Given the description of an element on the screen output the (x, y) to click on. 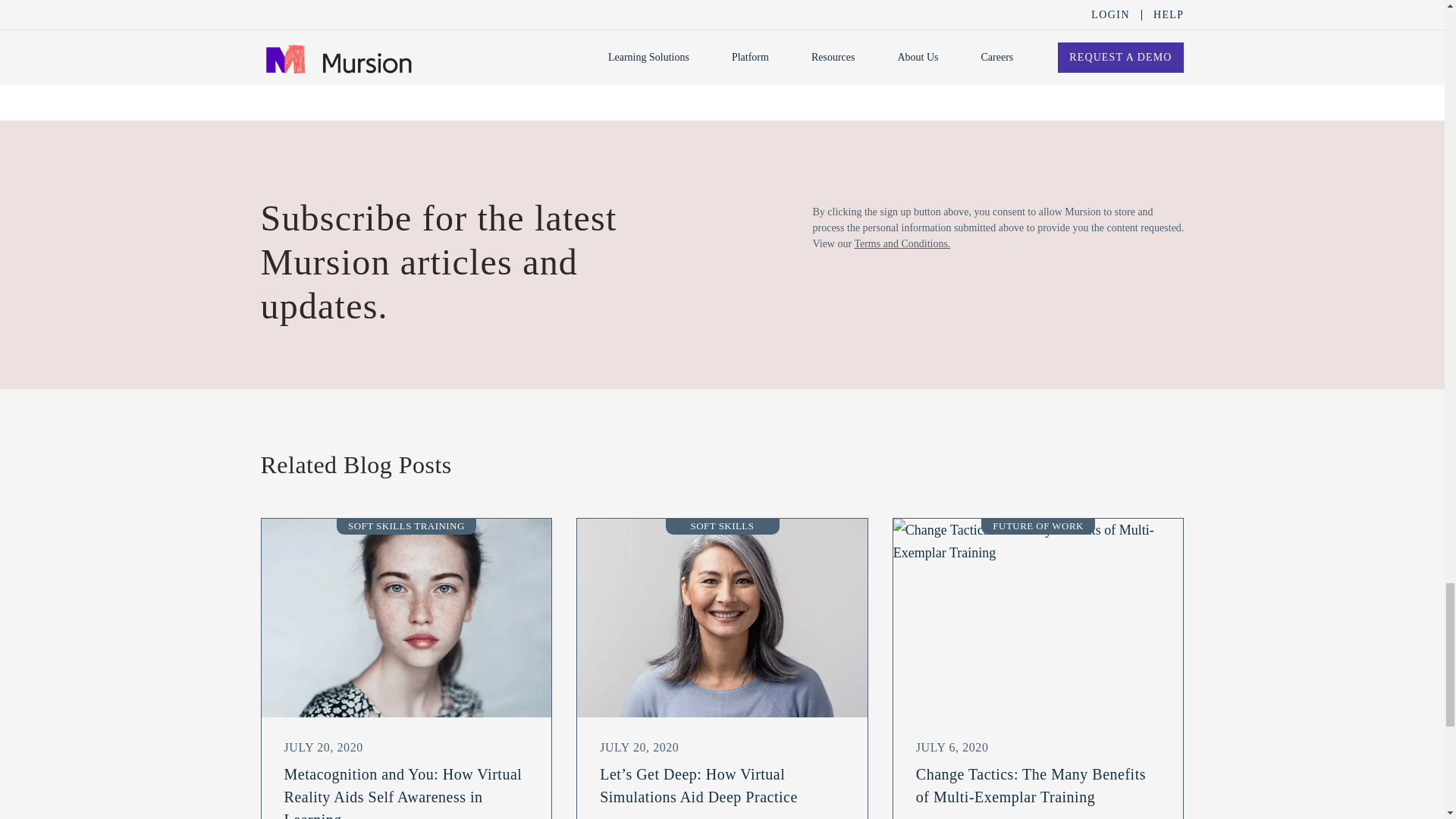
Change Tactics: The Many Benefits of Multi-Exemplar Training (1038, 617)
Terms and Conditions. (1025, 33)
